Given the description of an element on the screen output the (x, y) to click on. 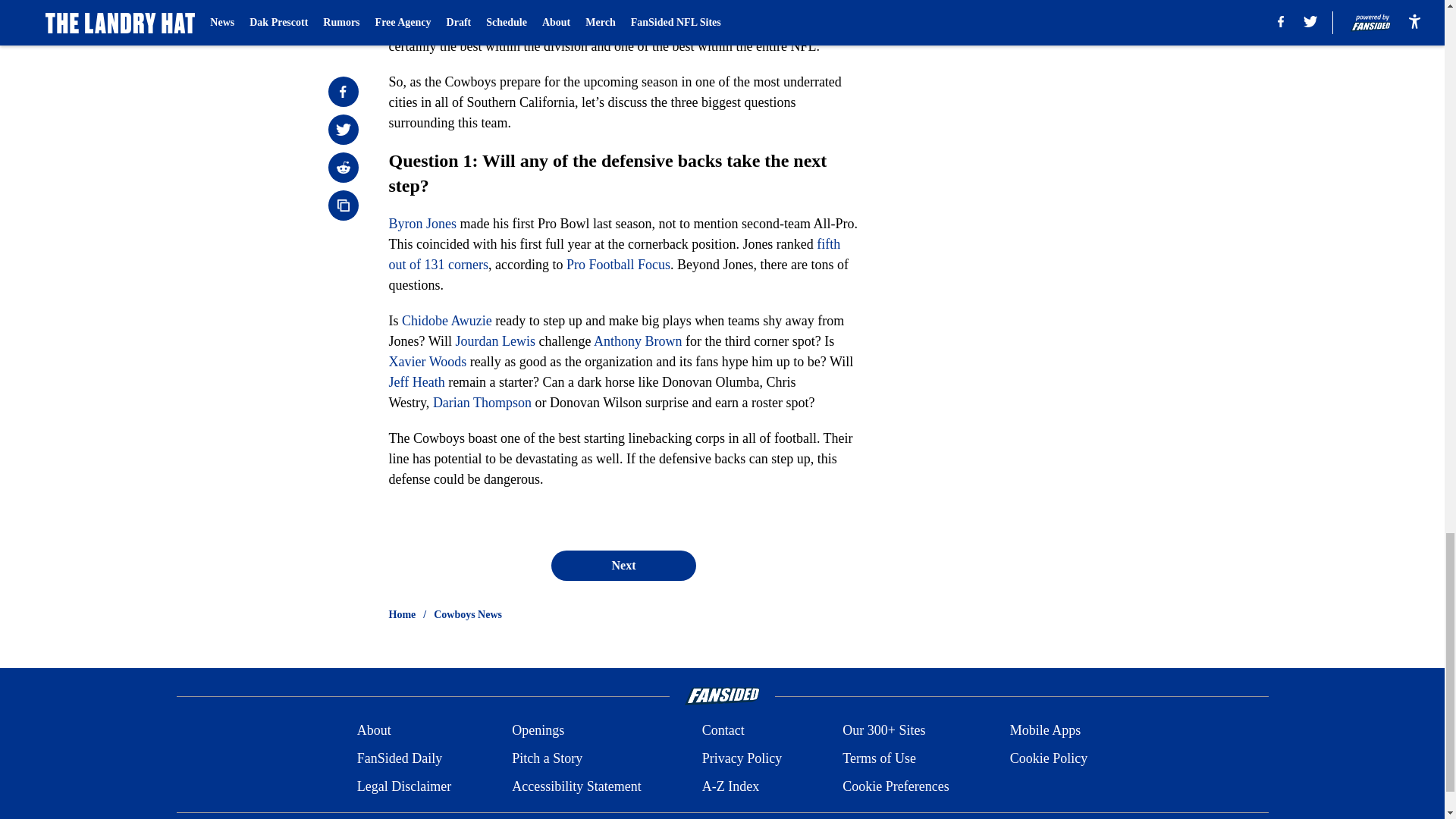
Cowboys News (467, 614)
Anthony Brown (638, 340)
Home (401, 614)
Xavier Woods (426, 361)
Next (622, 565)
Pro Football Focus (617, 264)
Jourdan Lewis (494, 340)
Darian Thompson (481, 402)
Jeff Heath (416, 381)
fifth out of 131 corners (614, 253)
